Given the description of an element on the screen output the (x, y) to click on. 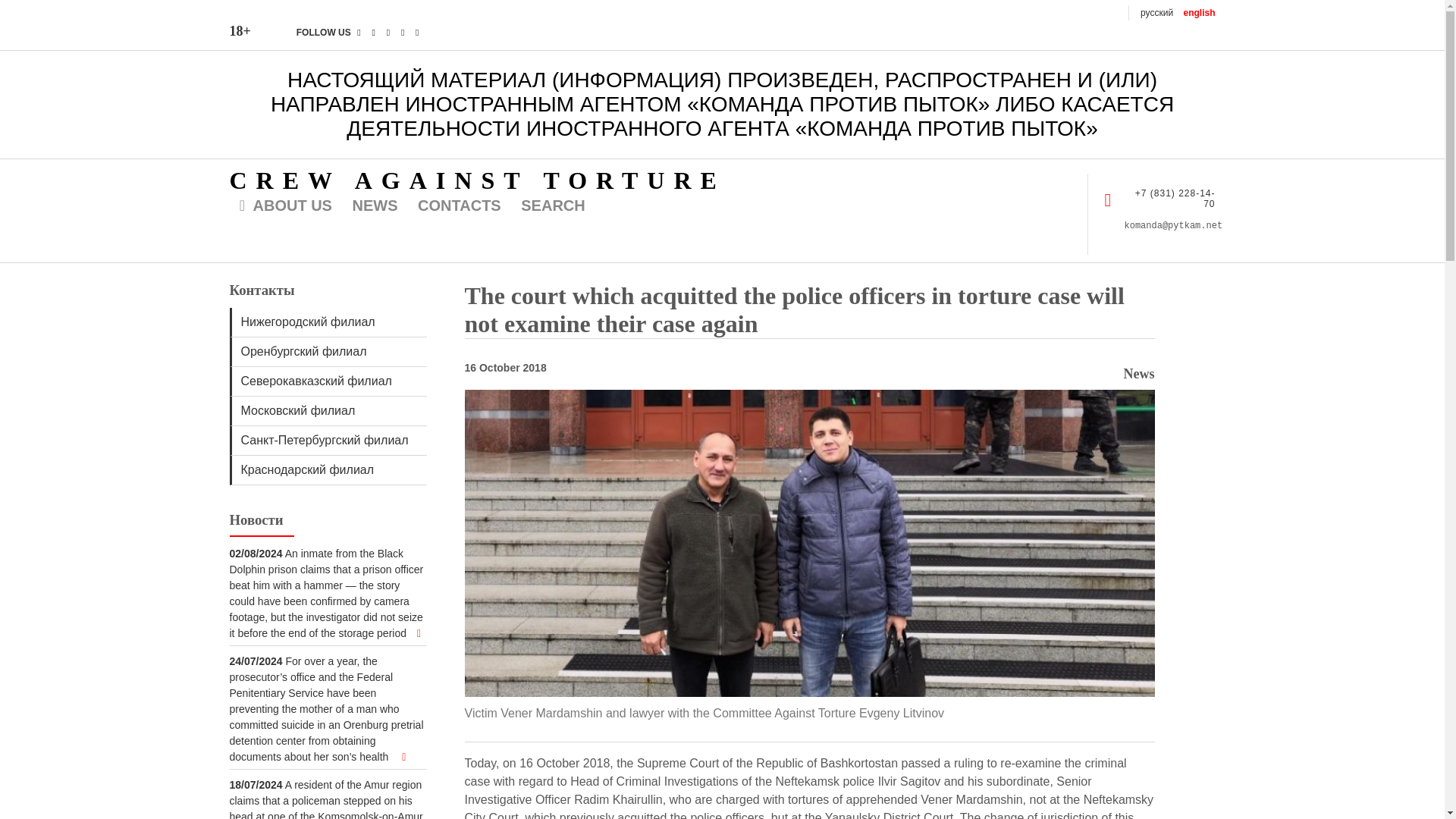
SEARCH (554, 205)
NEWS (377, 205)
english (1198, 12)
ABOUT US (282, 205)
CREW AGAINST TORTURE (476, 180)
CONTACTS (460, 205)
